Given the description of an element on the screen output the (x, y) to click on. 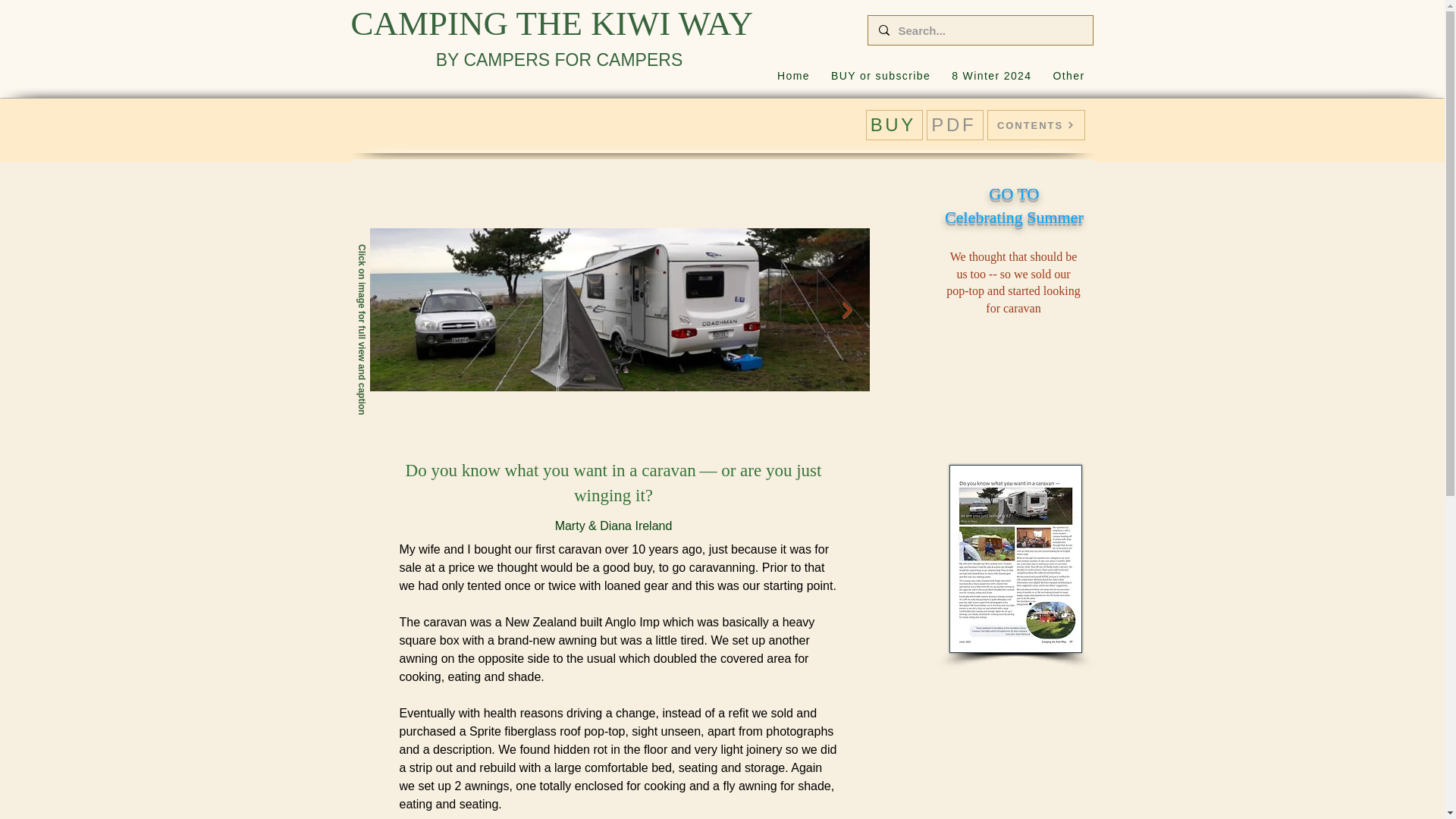
8 Winter 2024 (1013, 205)
BUY or subscribe (991, 75)
BUY (872, 75)
CONTENTS (880, 75)
Home (894, 124)
CAMPING THE KIWI WAY (1035, 124)
PDF (793, 75)
